Given the description of an element on the screen output the (x, y) to click on. 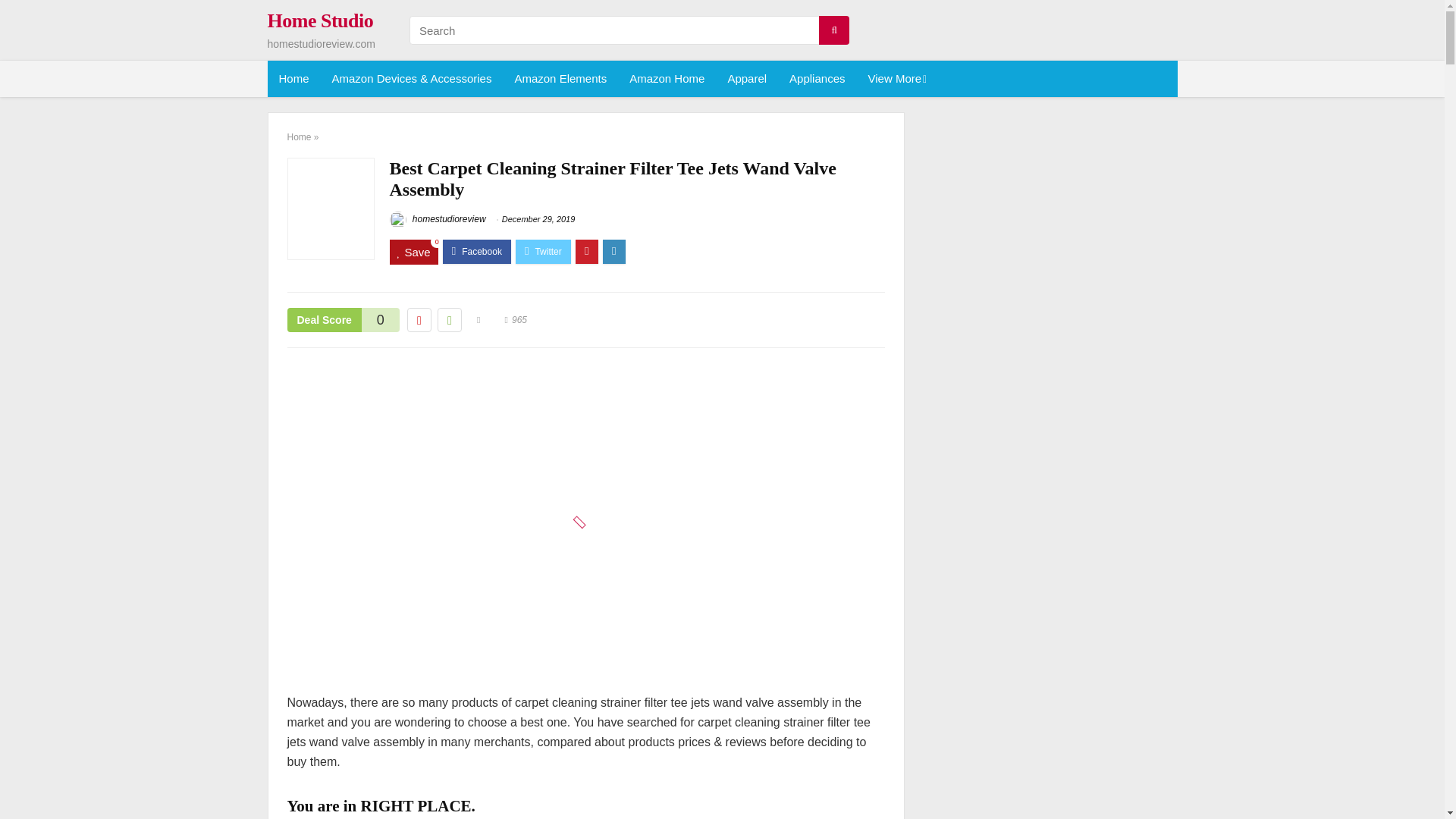
Vote down (418, 319)
Amazon Home (666, 78)
Appliances (816, 78)
View More (895, 78)
Home (293, 78)
Apparel (746, 78)
Amazon Elements (559, 78)
